Given the description of an element on the screen output the (x, y) to click on. 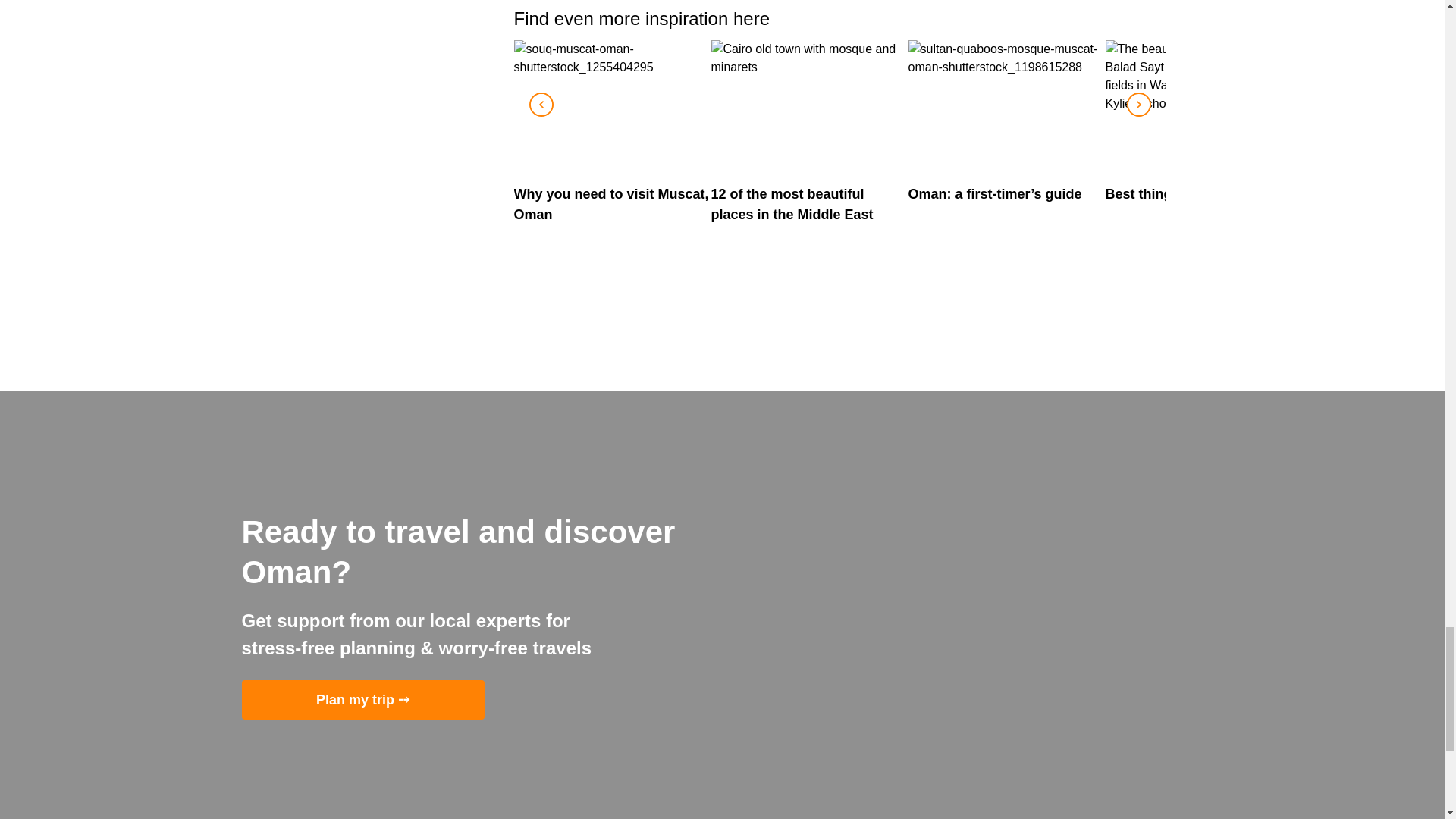
Best things to do in Oman (1204, 122)
Why you need to visit Muscat, Oman (612, 132)
12 of the most beautiful places in the Middle East (809, 132)
